Given the description of an element on the screen output the (x, y) to click on. 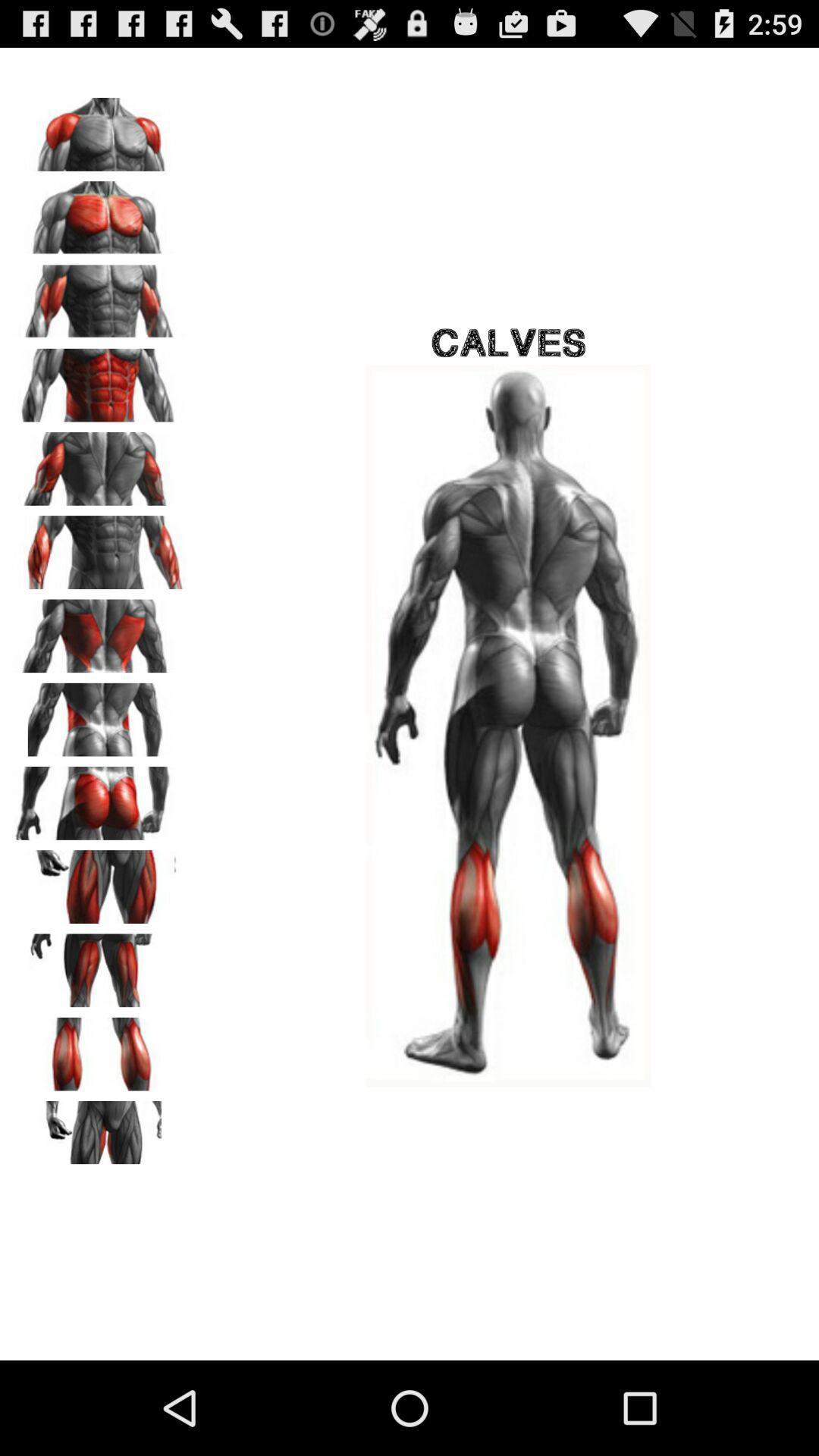
select muscle type (99, 881)
